Given the description of an element on the screen output the (x, y) to click on. 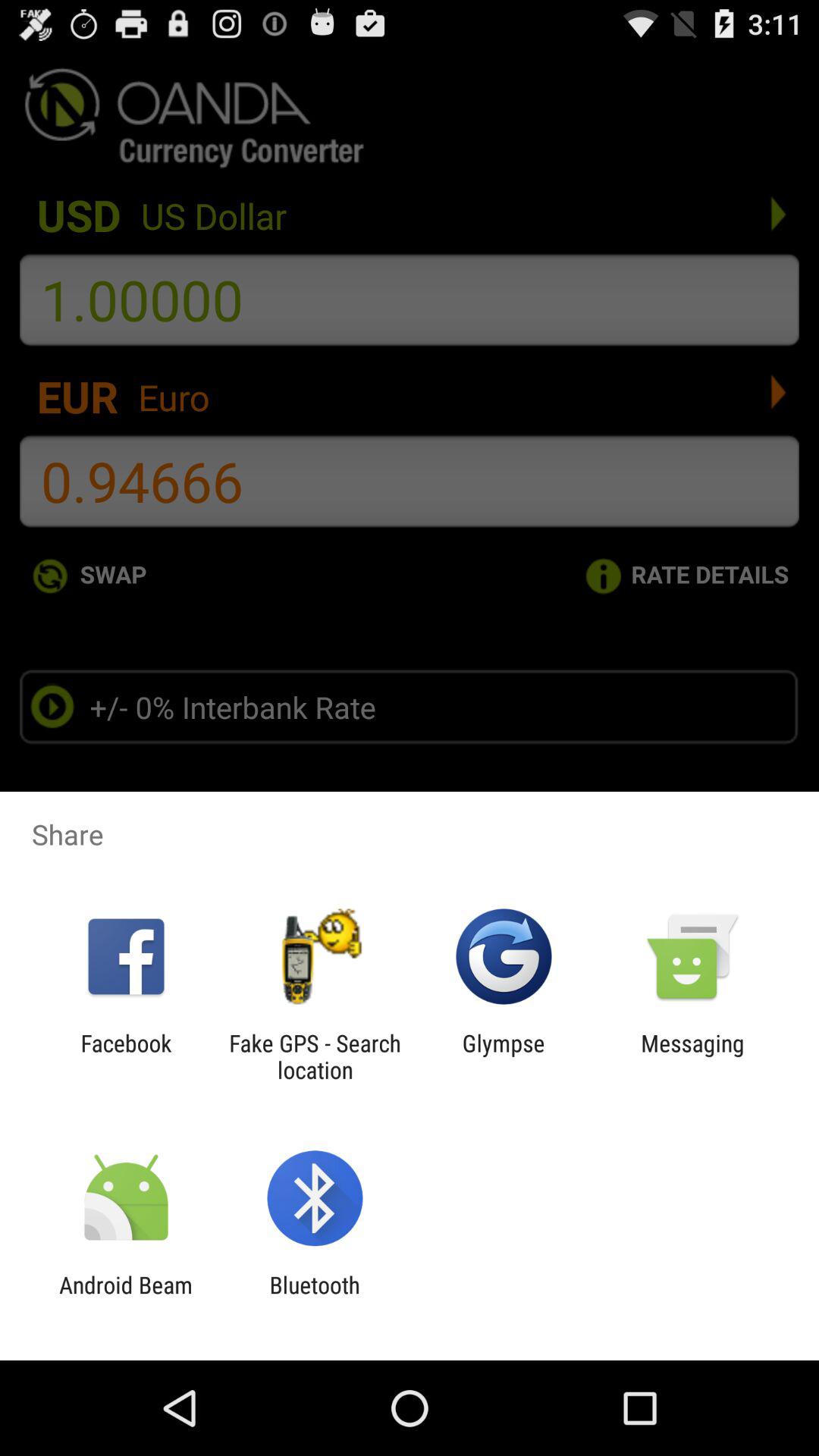
turn off icon to the left of the messaging app (503, 1056)
